Given the description of an element on the screen output the (x, y) to click on. 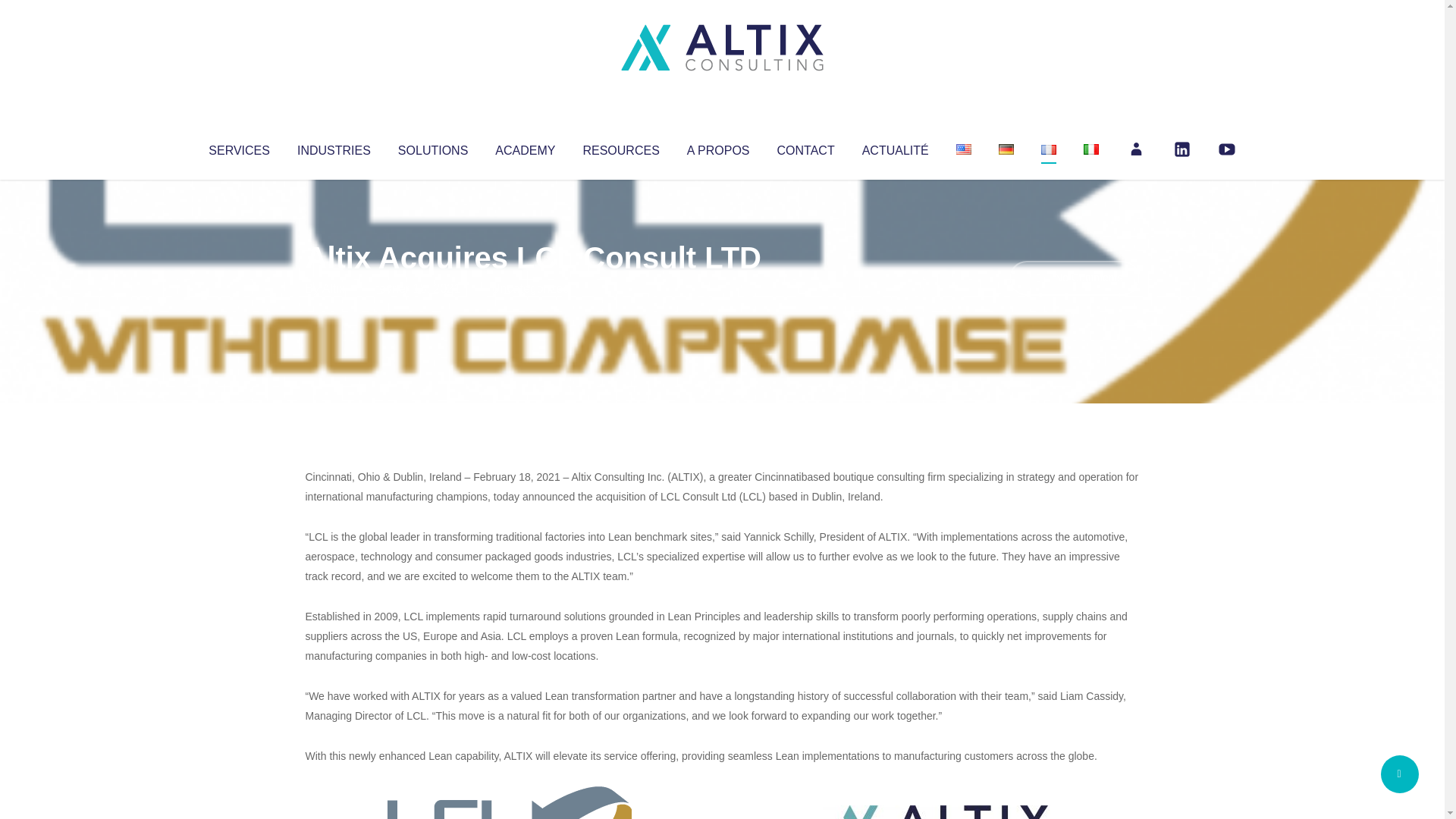
INDUSTRIES (334, 146)
SOLUTIONS (432, 146)
SERVICES (238, 146)
No Comments (1073, 278)
Altix (333, 287)
A PROPOS (718, 146)
RESOURCES (620, 146)
Uncategorized (530, 287)
Articles par Altix (333, 287)
ACADEMY (524, 146)
